Given the description of an element on the screen output the (x, y) to click on. 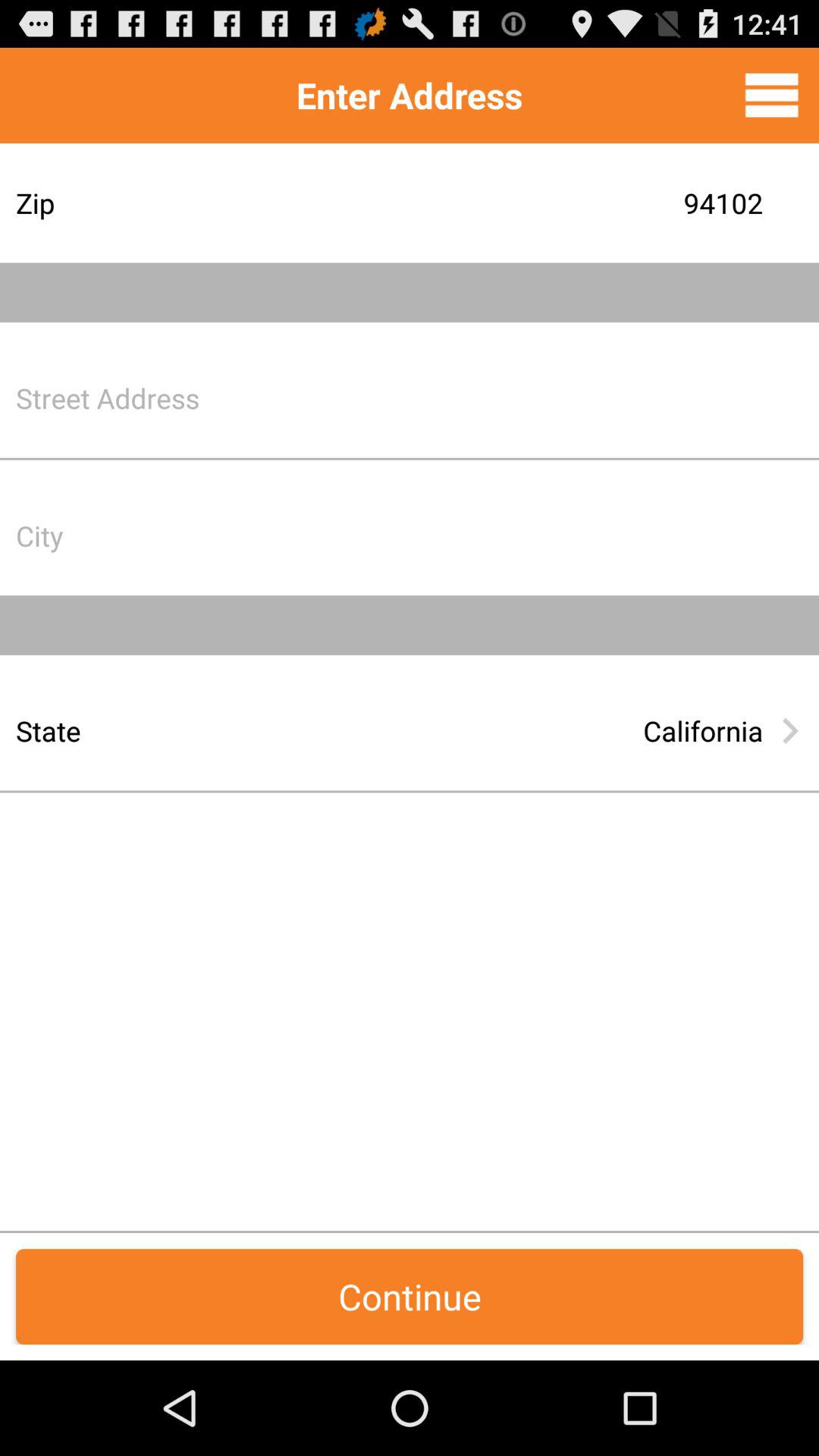
jump to continue item (409, 1296)
